Given the description of an element on the screen output the (x, y) to click on. 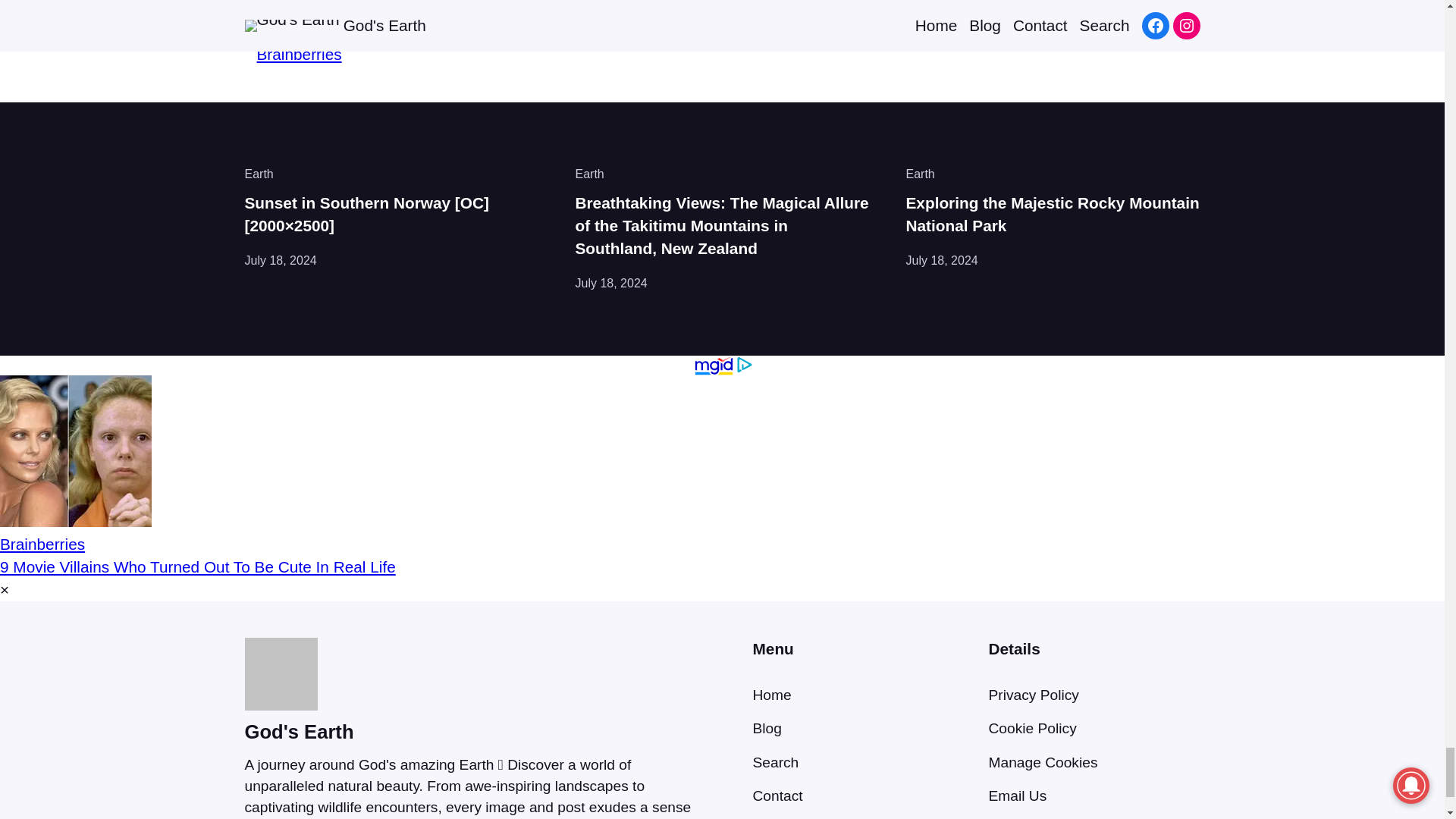
Privacy Policy (1033, 694)
God's Earth (298, 731)
Exploring the Majestic Rocky Mountain National Park (1052, 214)
Earth (258, 173)
Contact (777, 795)
Manage Cookies (1042, 762)
Earth (589, 173)
Email Us (1017, 795)
Blog (766, 728)
Cookie Policy (1032, 728)
Home (771, 694)
Search (774, 762)
Earth (919, 173)
